Given the description of an element on the screen output the (x, y) to click on. 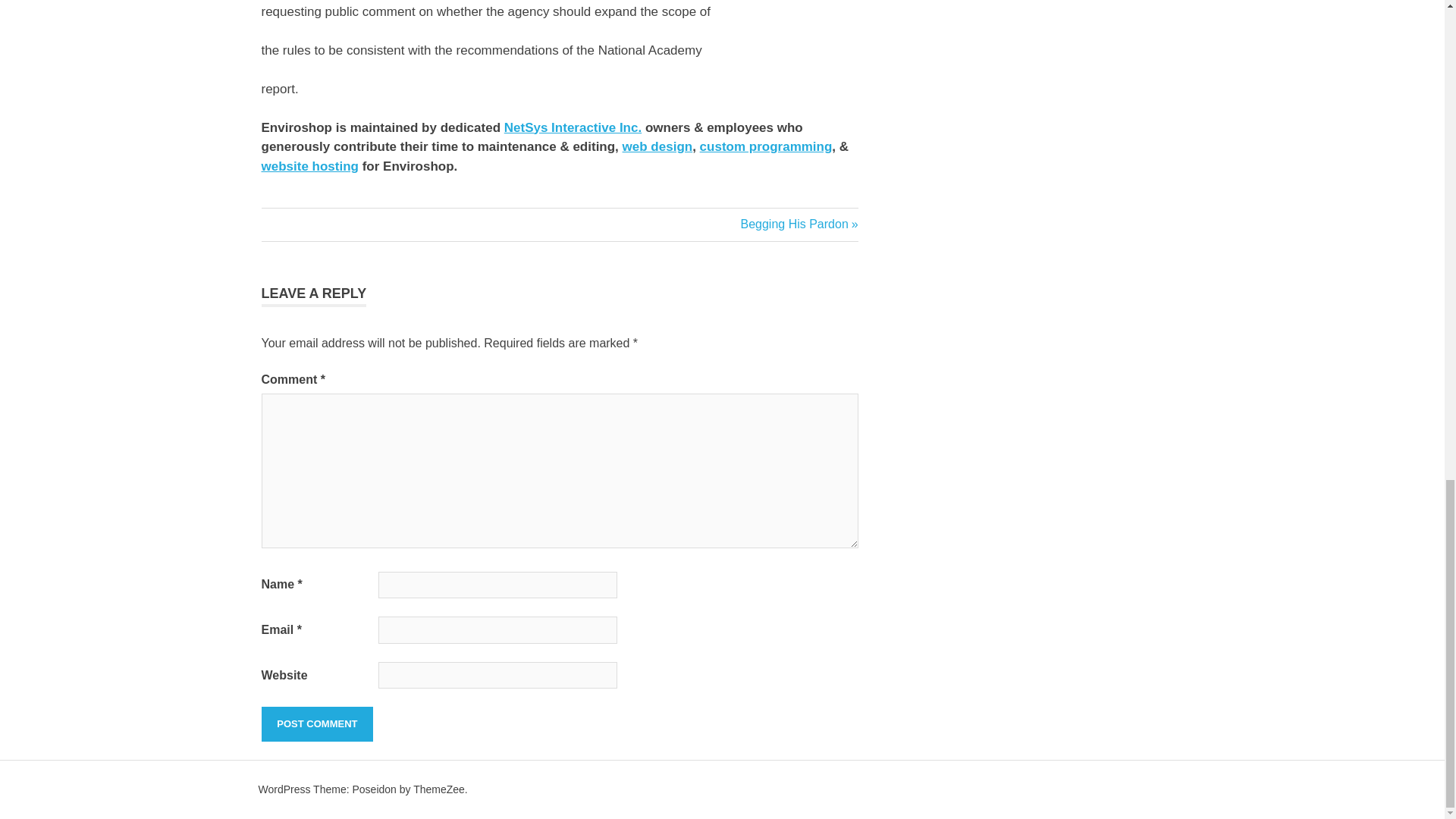
Post Comment (316, 724)
